Given the description of an element on the screen output the (x, y) to click on. 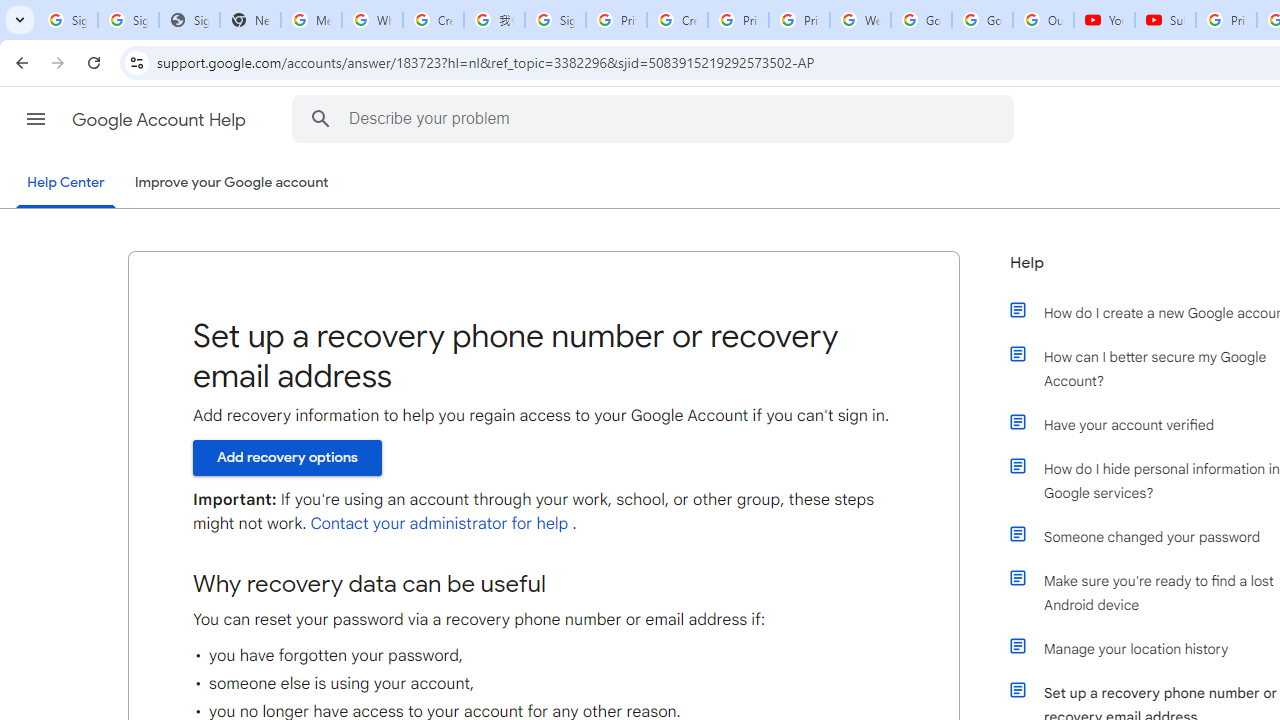
Add recovery options (287, 457)
Sign in - Google Accounts (555, 20)
Welcome to My Activity (859, 20)
Contact your administrator for help (439, 524)
Sign in - Google Accounts (128, 20)
Google Account Help (160, 119)
Search the Help Center (320, 118)
